Given the description of an element on the screen output the (x, y) to click on. 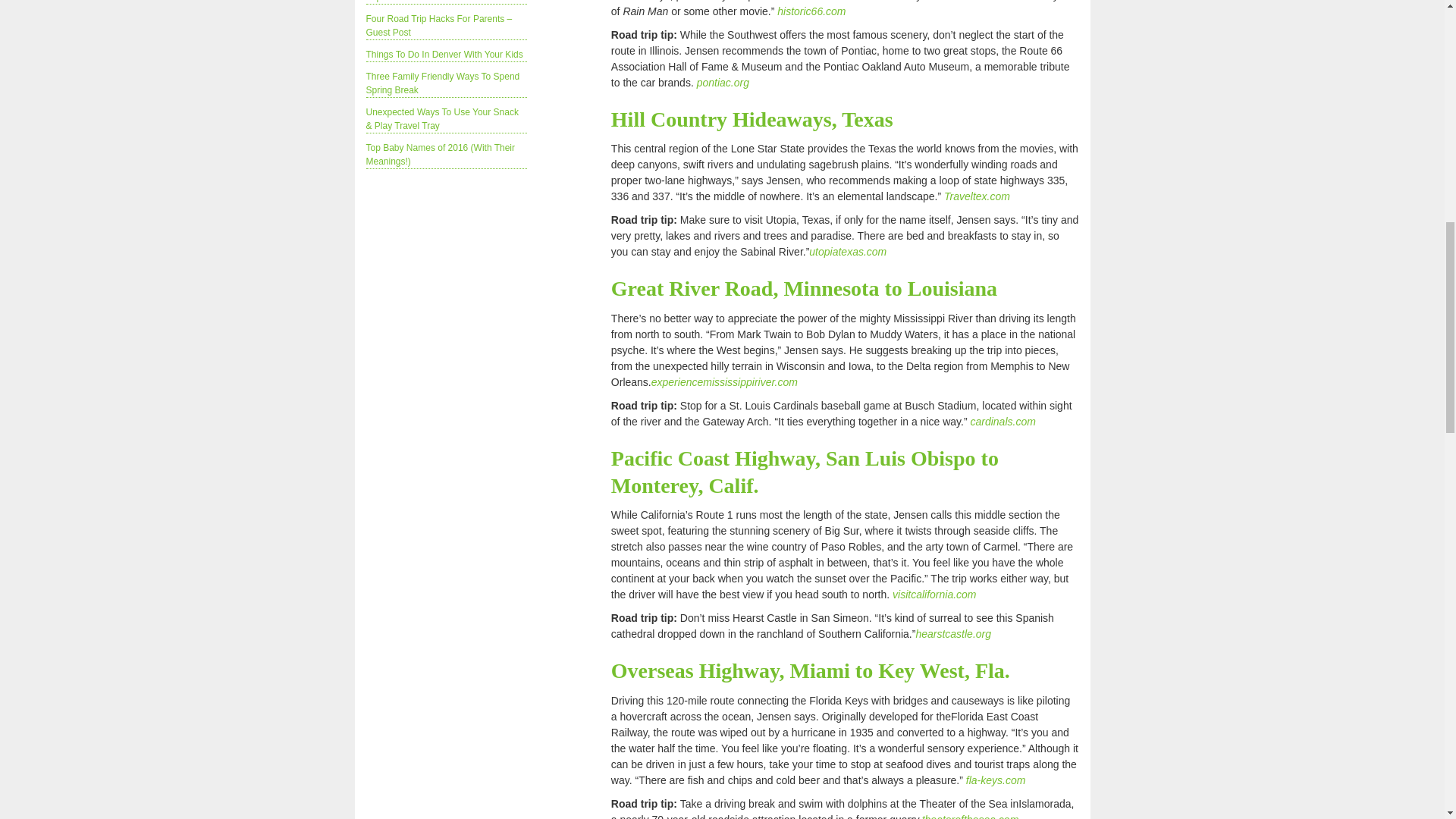
Things To Do In Denver With Your Kids (443, 54)
Three Family Friendly Ways To Spend Spring Break (442, 83)
